Given the description of an element on the screen output the (x, y) to click on. 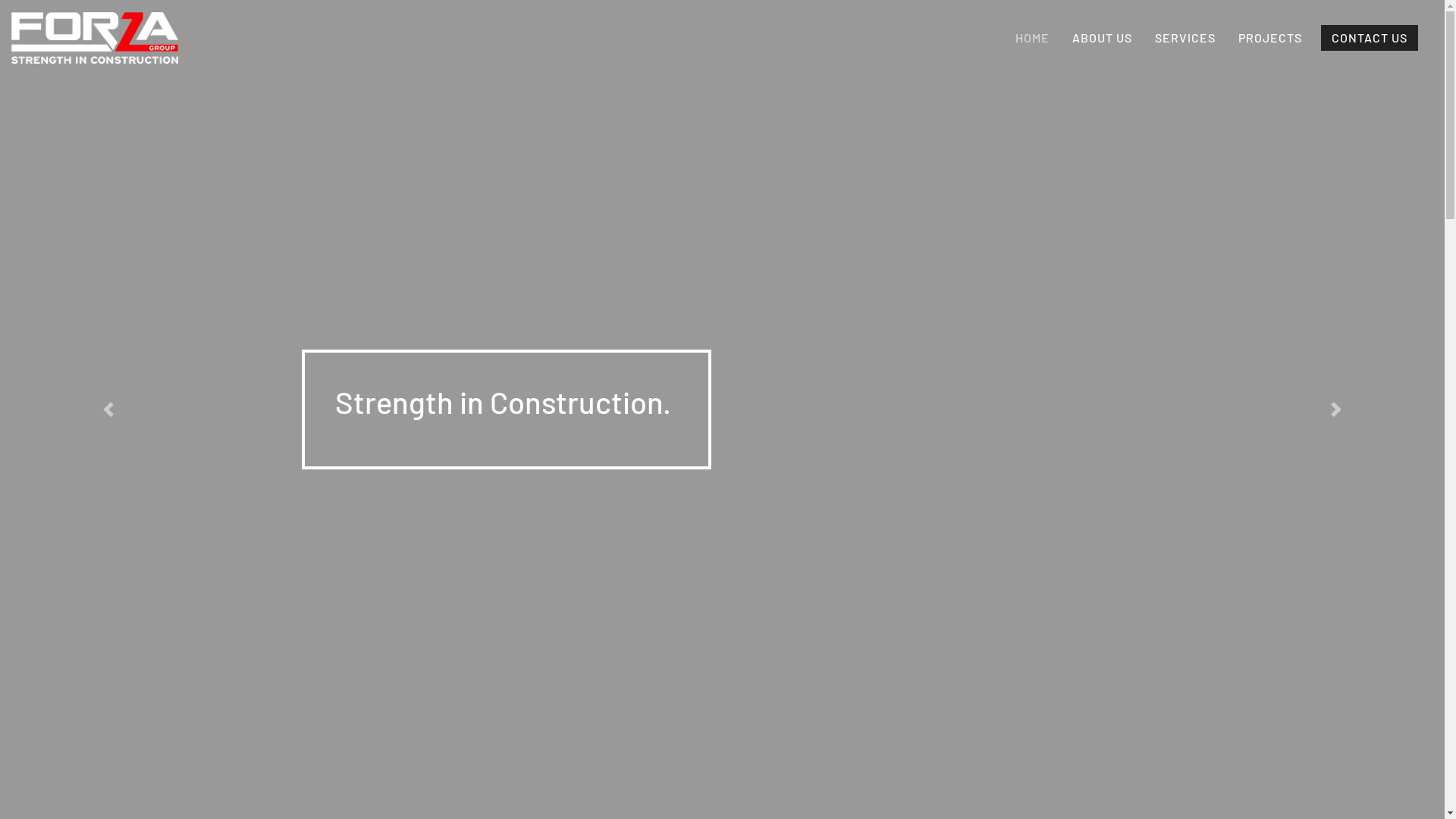
PROJECTS Element type: text (1269, 37)
CONTACT US Element type: text (1369, 37)
HOME Element type: text (1032, 37)
SERVICES Element type: text (1185, 37)
ABOUT US Element type: text (1101, 37)
